Given the description of an element on the screen output the (x, y) to click on. 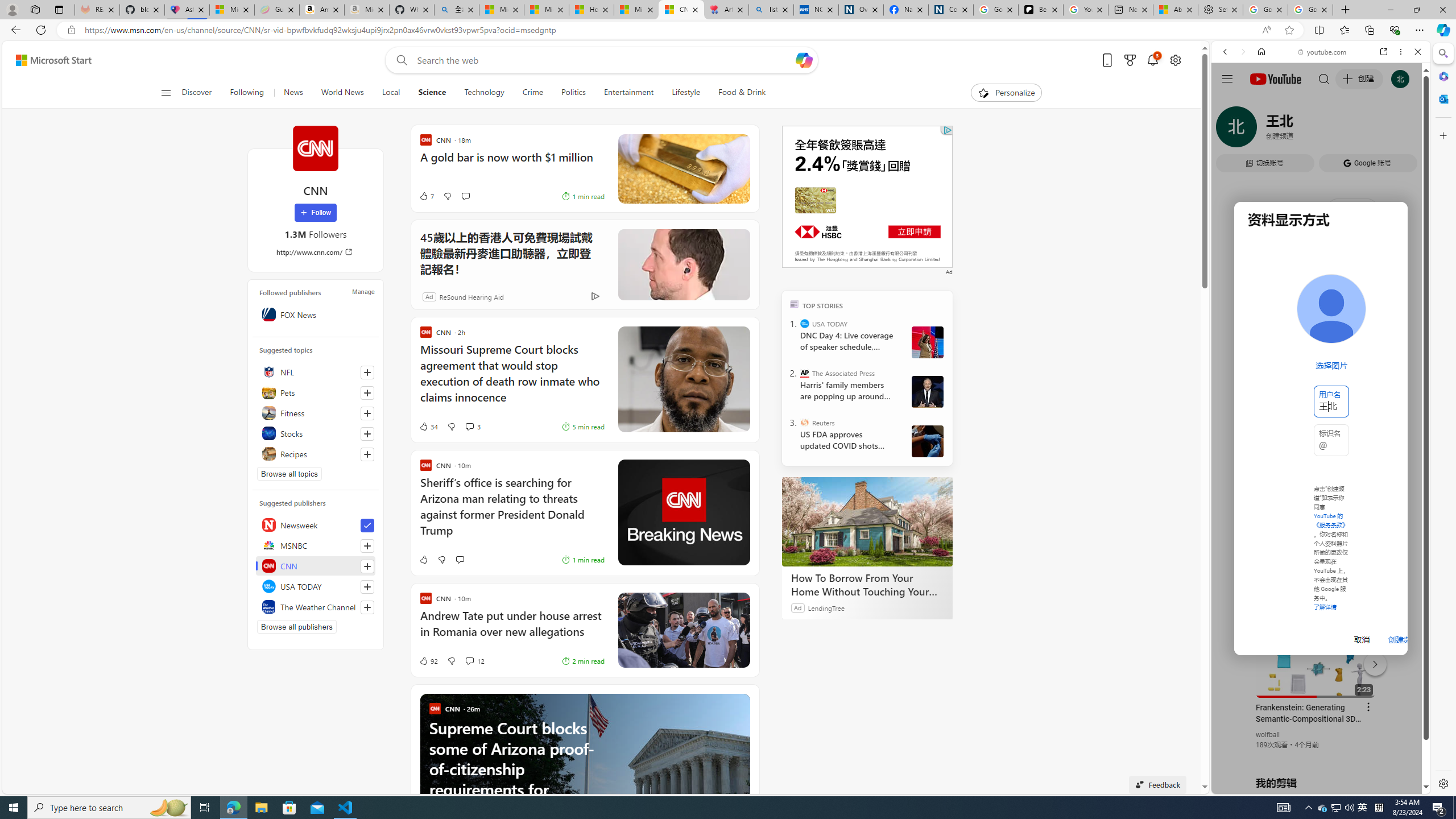
Google (1320, 281)
CNN (315, 565)
Follow this topic (367, 454)
Food & Drink (737, 92)
